Given the description of an element on the screen output the (x, y) to click on. 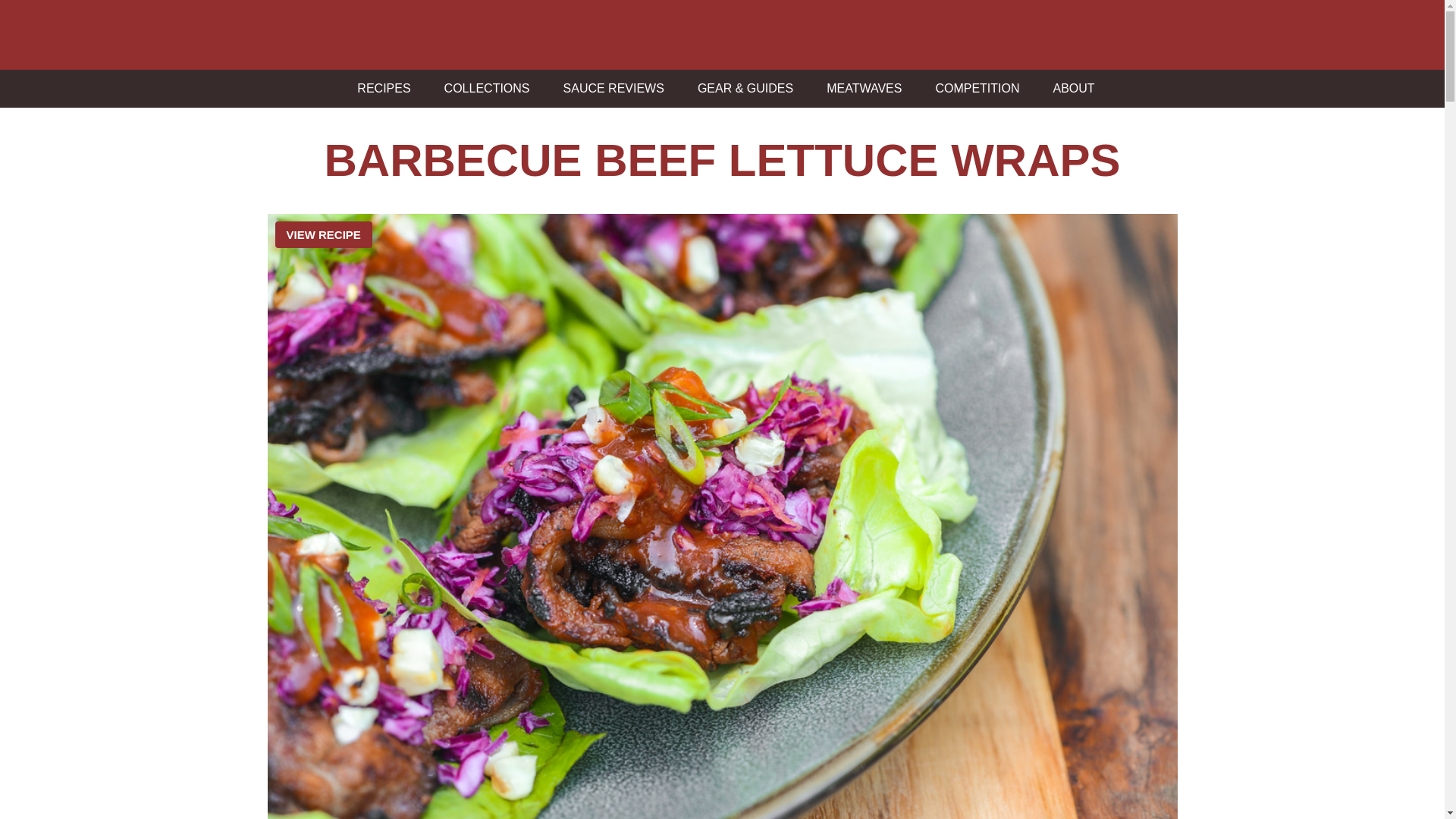
COLLECTIONS (483, 87)
COMPETITION (972, 87)
Search (21, 8)
RECIPES (379, 87)
VIEW RECIPE (323, 234)
SAUCE REVIEWS (609, 87)
ABOUT (1069, 87)
MEATWAVES (860, 87)
